Given the description of an element on the screen output the (x, y) to click on. 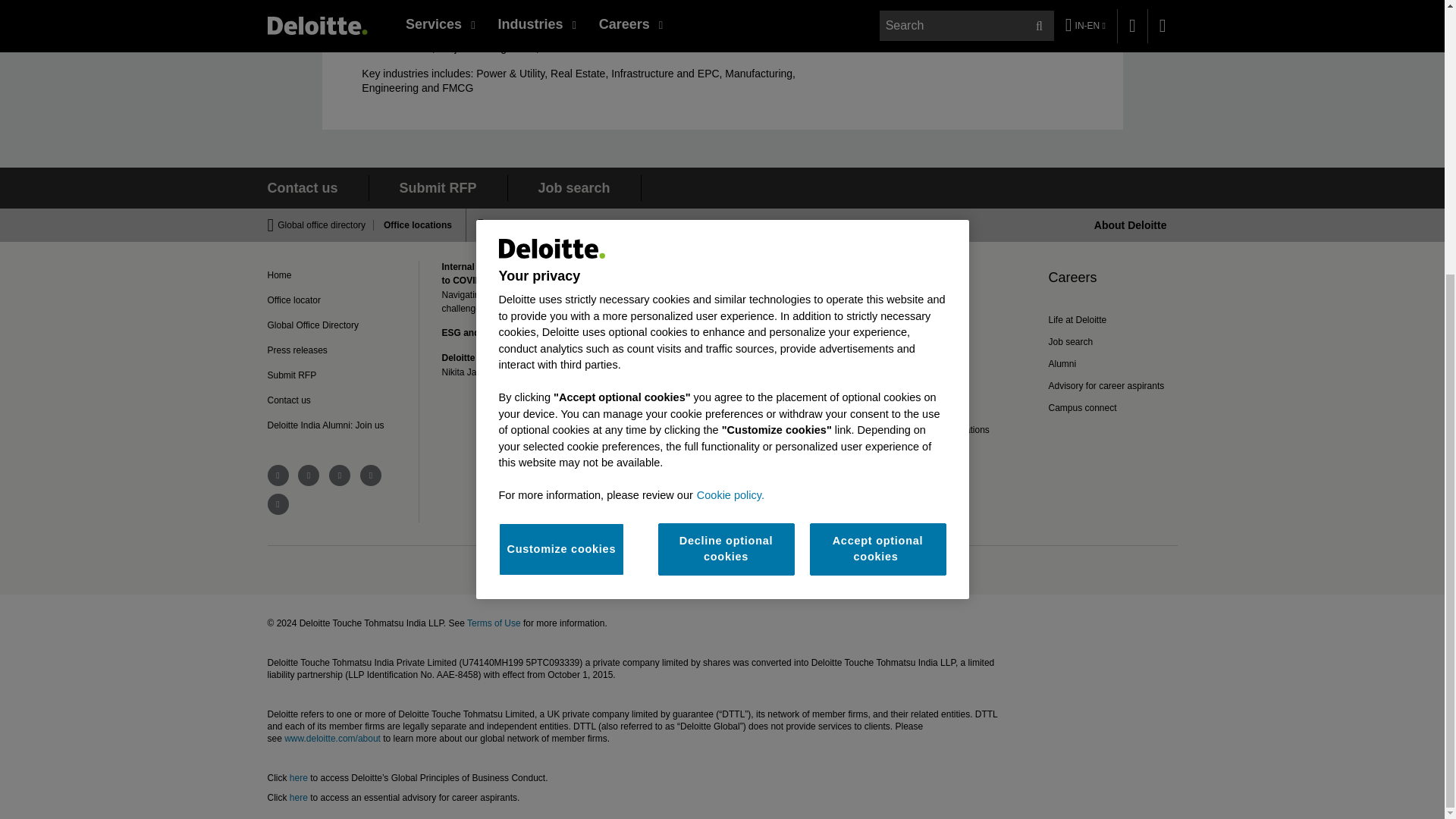
youtube (370, 475)
twitter (308, 475)
Office locations (413, 225)
facebook (277, 475)
About Deloitte (1130, 224)
Global office directory (326, 225)
linkedin (339, 475)
instagram (277, 504)
